Given the description of an element on the screen output the (x, y) to click on. 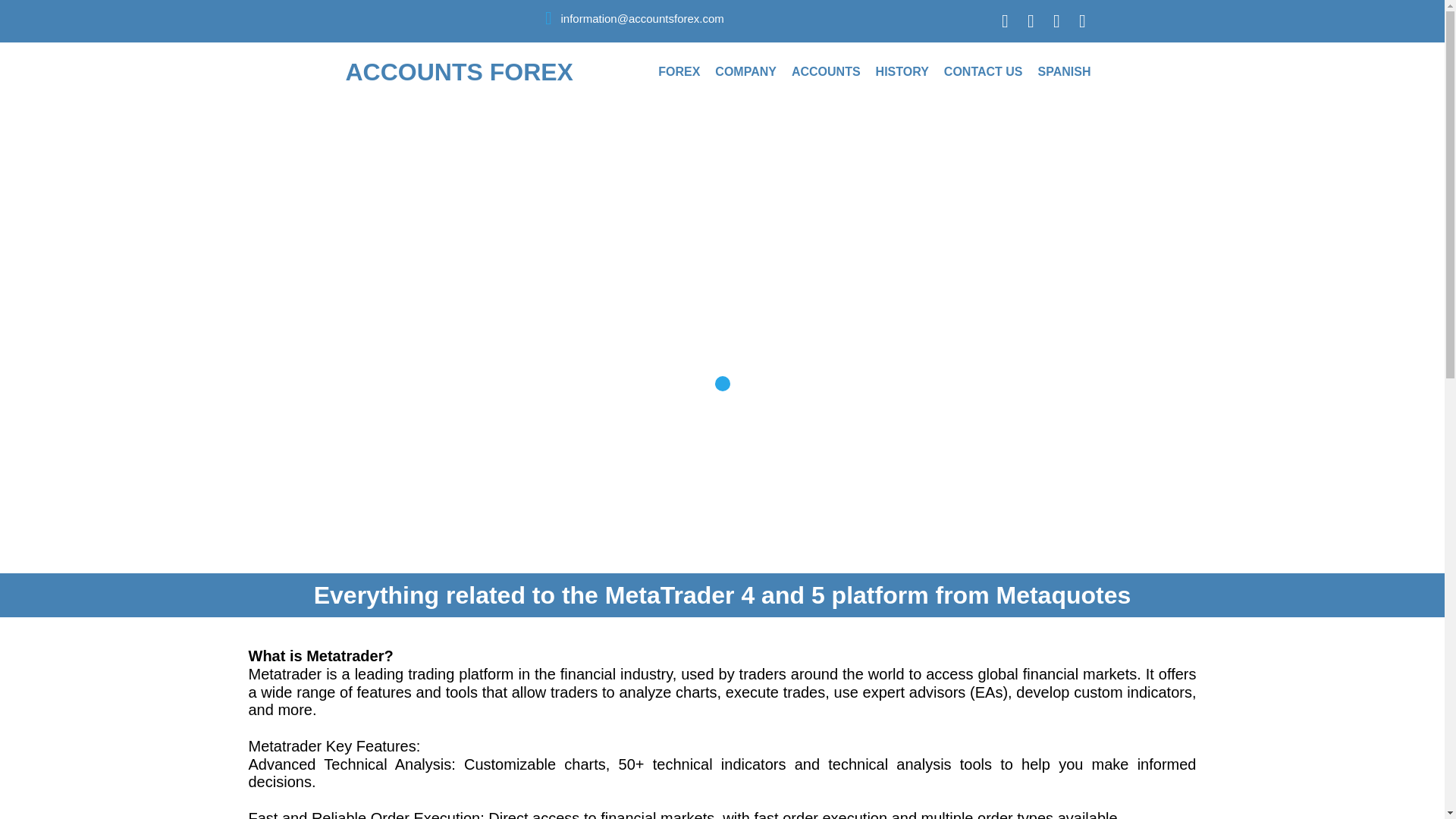
Forex (678, 71)
History Forex (901, 71)
COMPANY (745, 71)
SPANISH (1064, 71)
FOREX (678, 71)
HISTORY (901, 71)
Company (745, 71)
ACCOUNTS (825, 71)
CONTACT US (983, 71)
Contact us (983, 71)
